Given the description of an element on the screen output the (x, y) to click on. 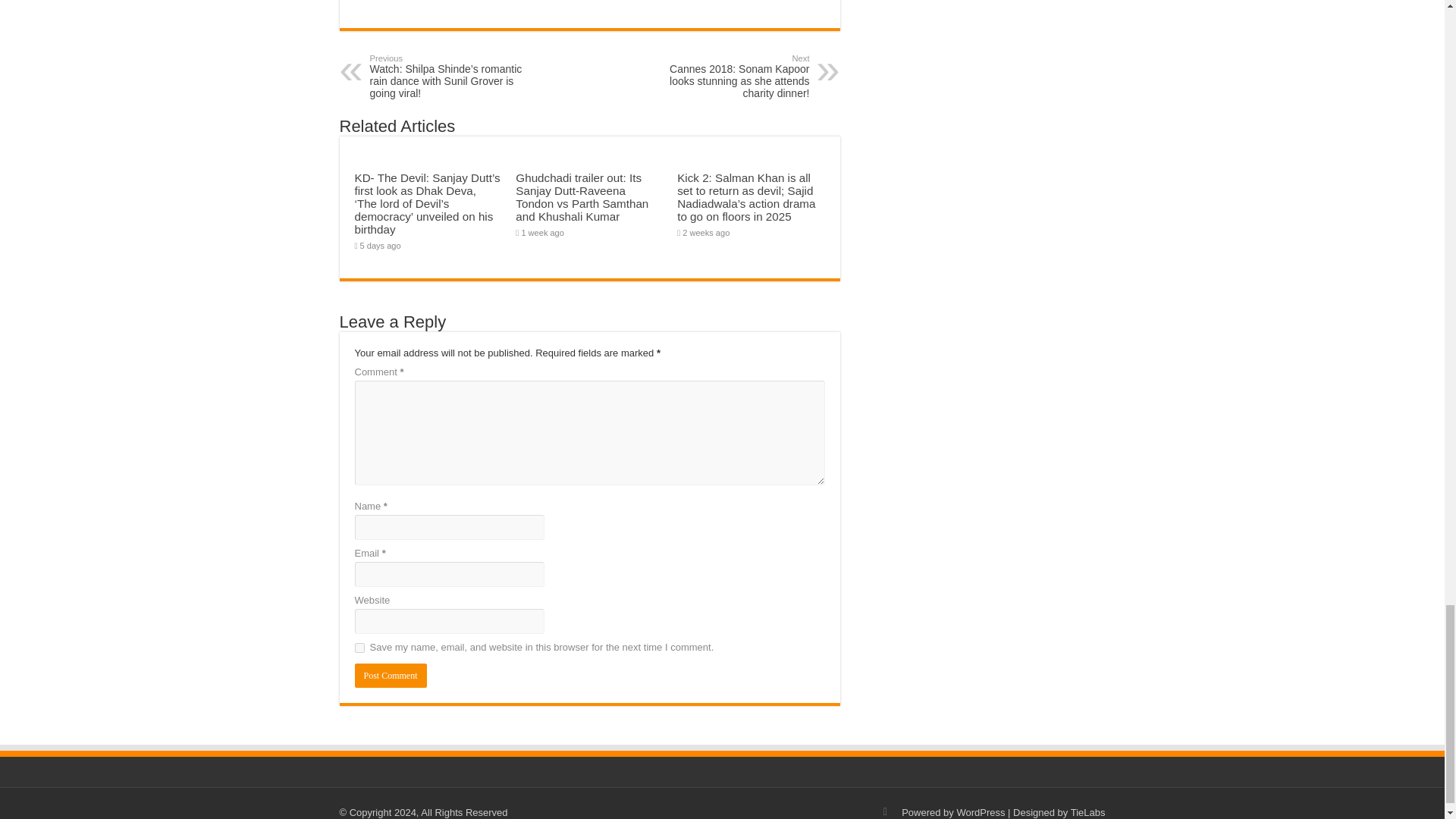
Post Comment (390, 675)
yes (360, 647)
